Given the description of an element on the screen output the (x, y) to click on. 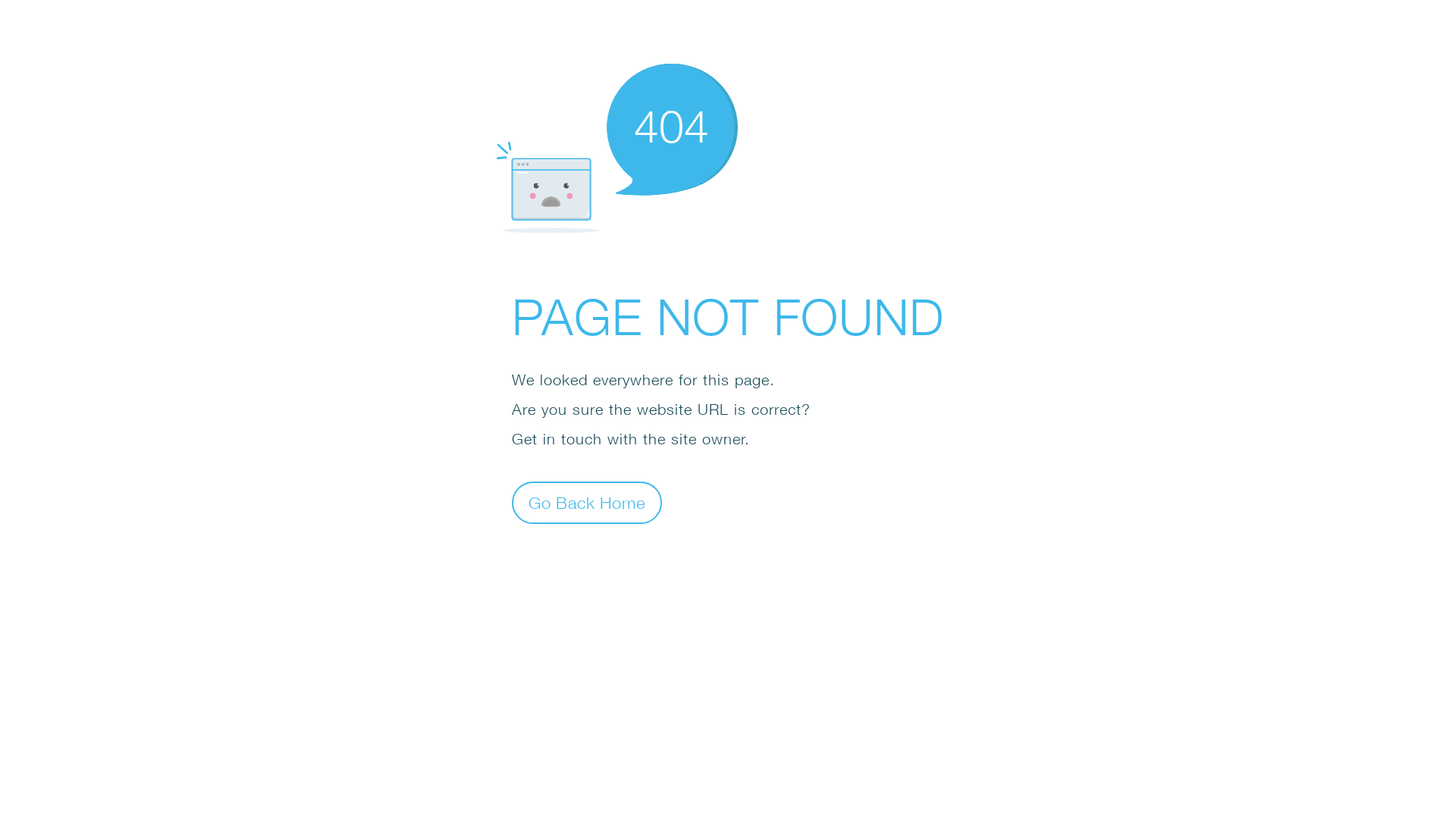
Go Back Home Element type: text (586, 502)
